Given the description of an element on the screen output the (x, y) to click on. 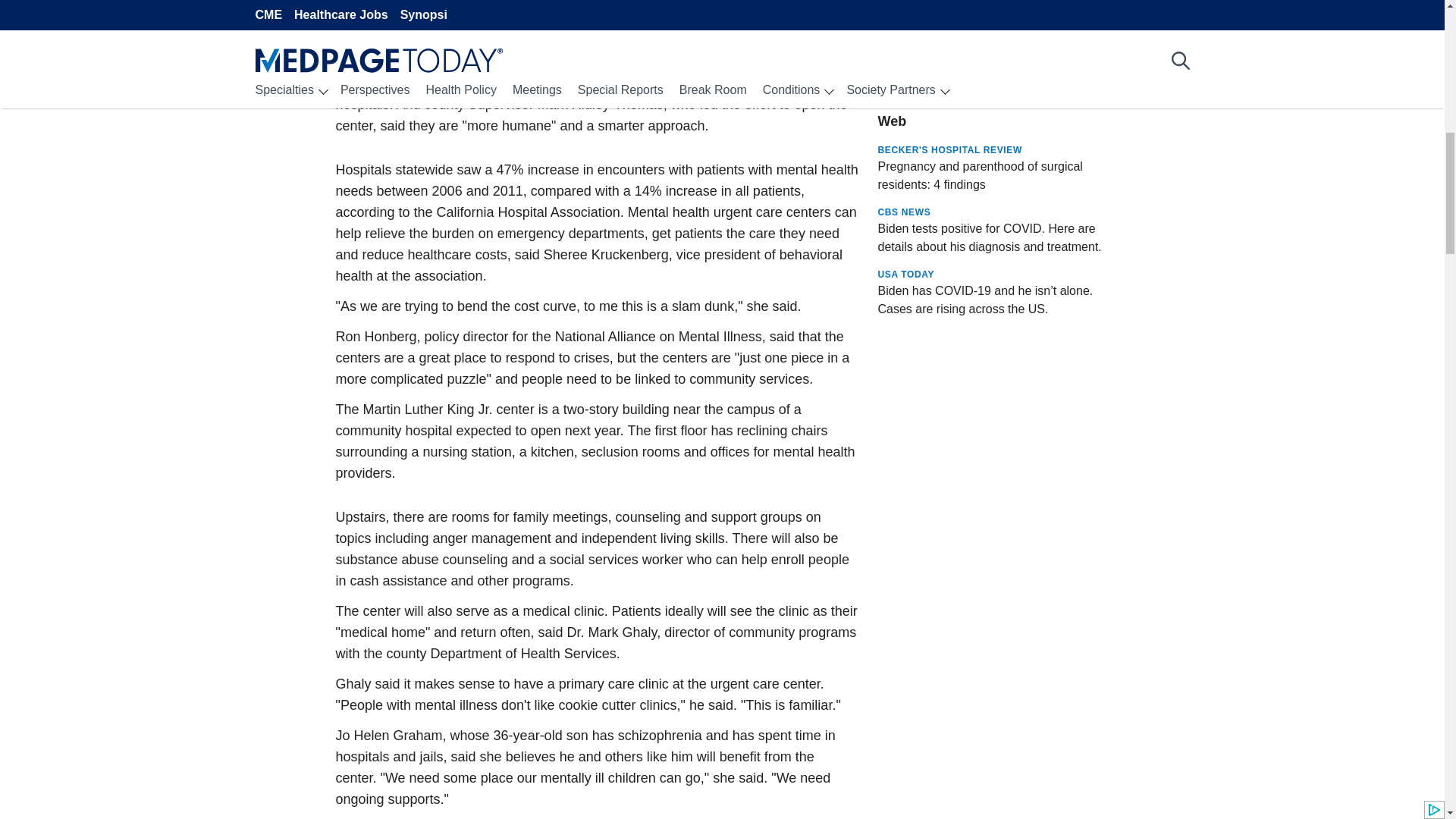
Opens in a new tab or window (993, 125)
Opens in a new tab or window (993, 63)
Opens in a new tab or window (993, 9)
